Given the description of an element on the screen output the (x, y) to click on. 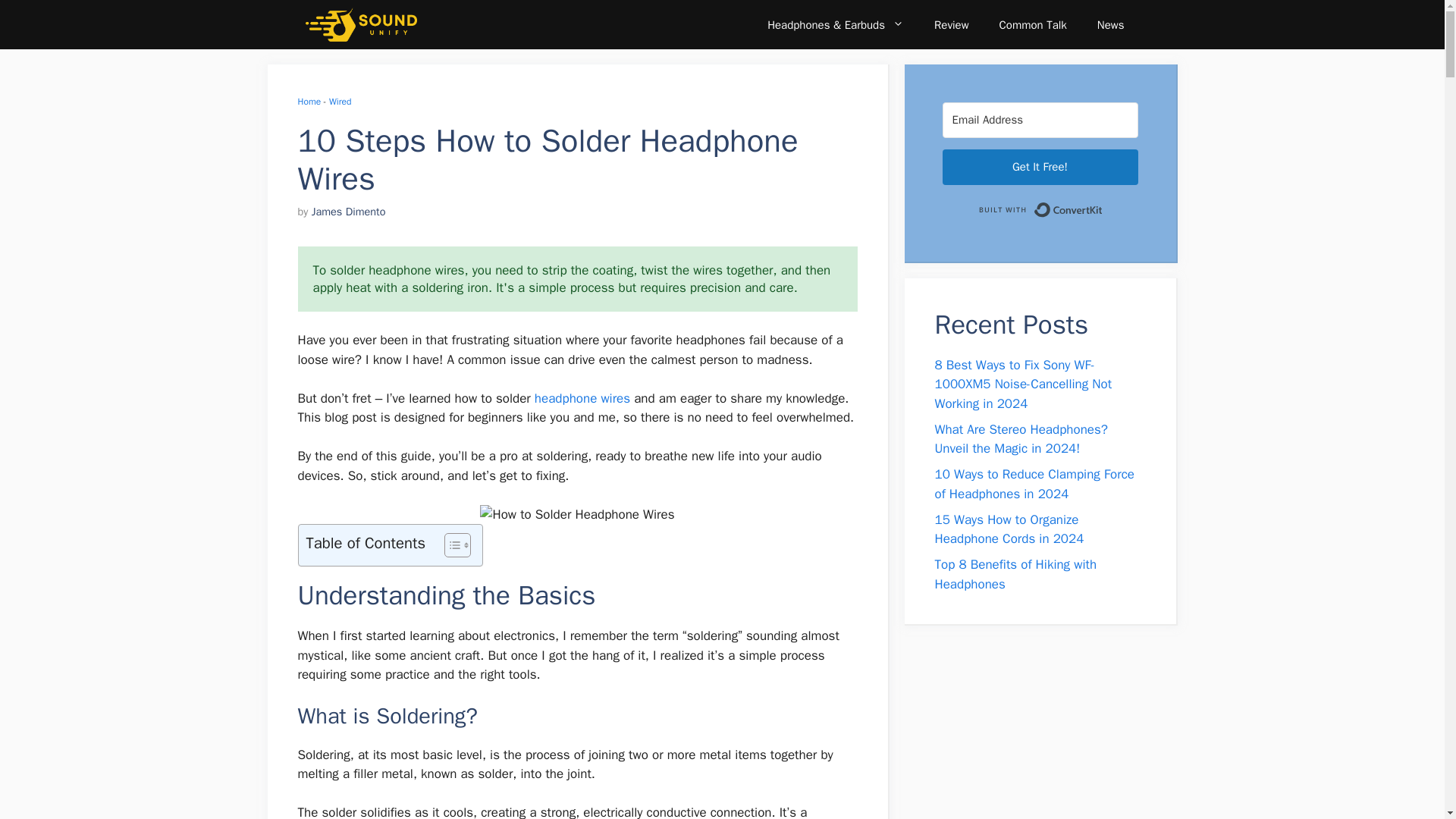
Sound Unify (360, 24)
Common Talk (1032, 23)
News (1110, 23)
View all posts by James Dimento (348, 211)
Wired (339, 101)
Home (308, 101)
Review (951, 23)
headphone wires (582, 398)
James Dimento (348, 211)
